Given the description of an element on the screen output the (x, y) to click on. 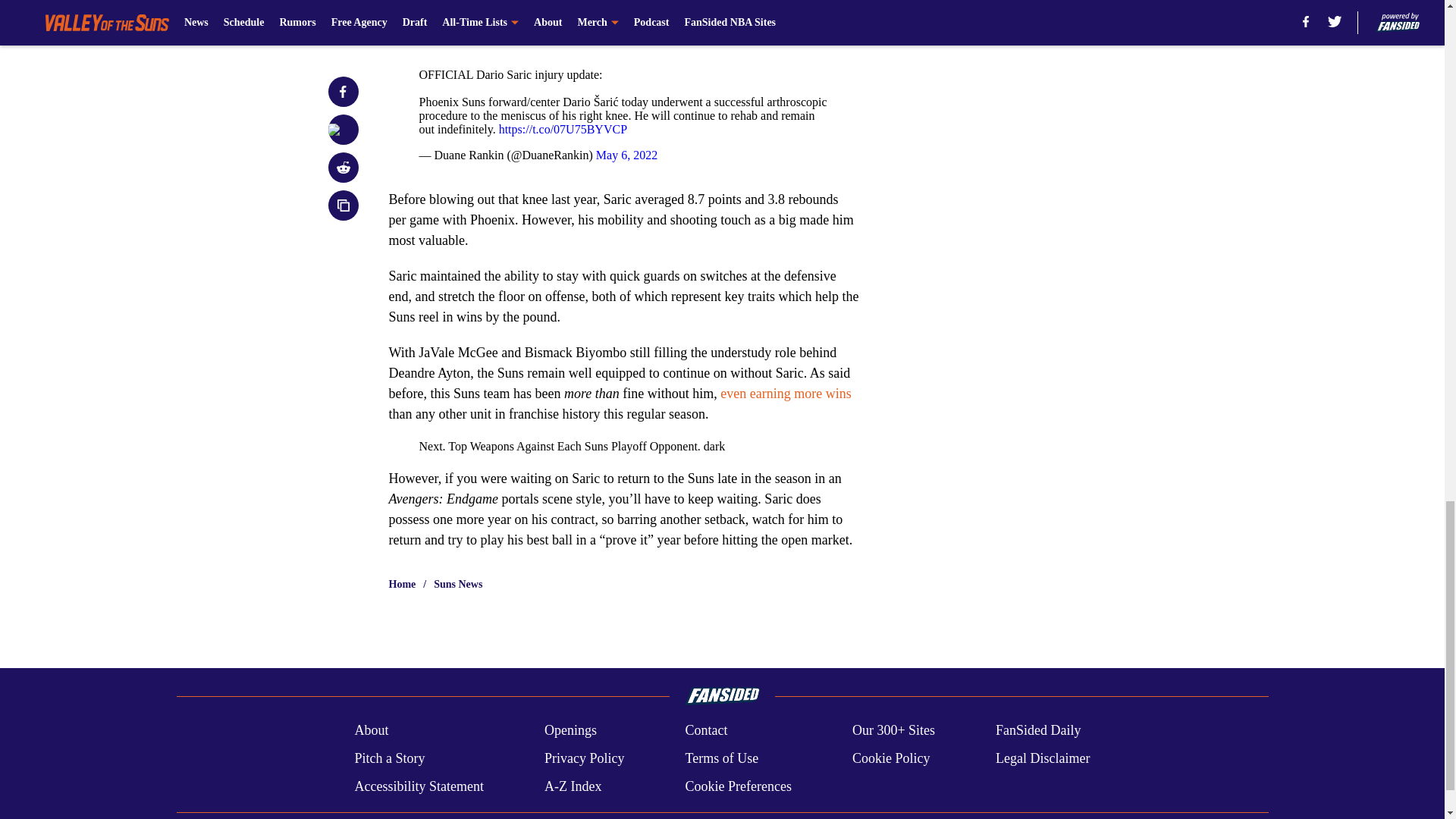
Suns News (457, 584)
About (370, 730)
Openings (570, 730)
even earning more wins (785, 393)
Pitch a Story (389, 758)
Privacy Policy (584, 758)
Home (401, 584)
Contact (705, 730)
May 6, 2022 (626, 154)
FanSided Daily (1038, 730)
